Given the description of an element on the screen output the (x, y) to click on. 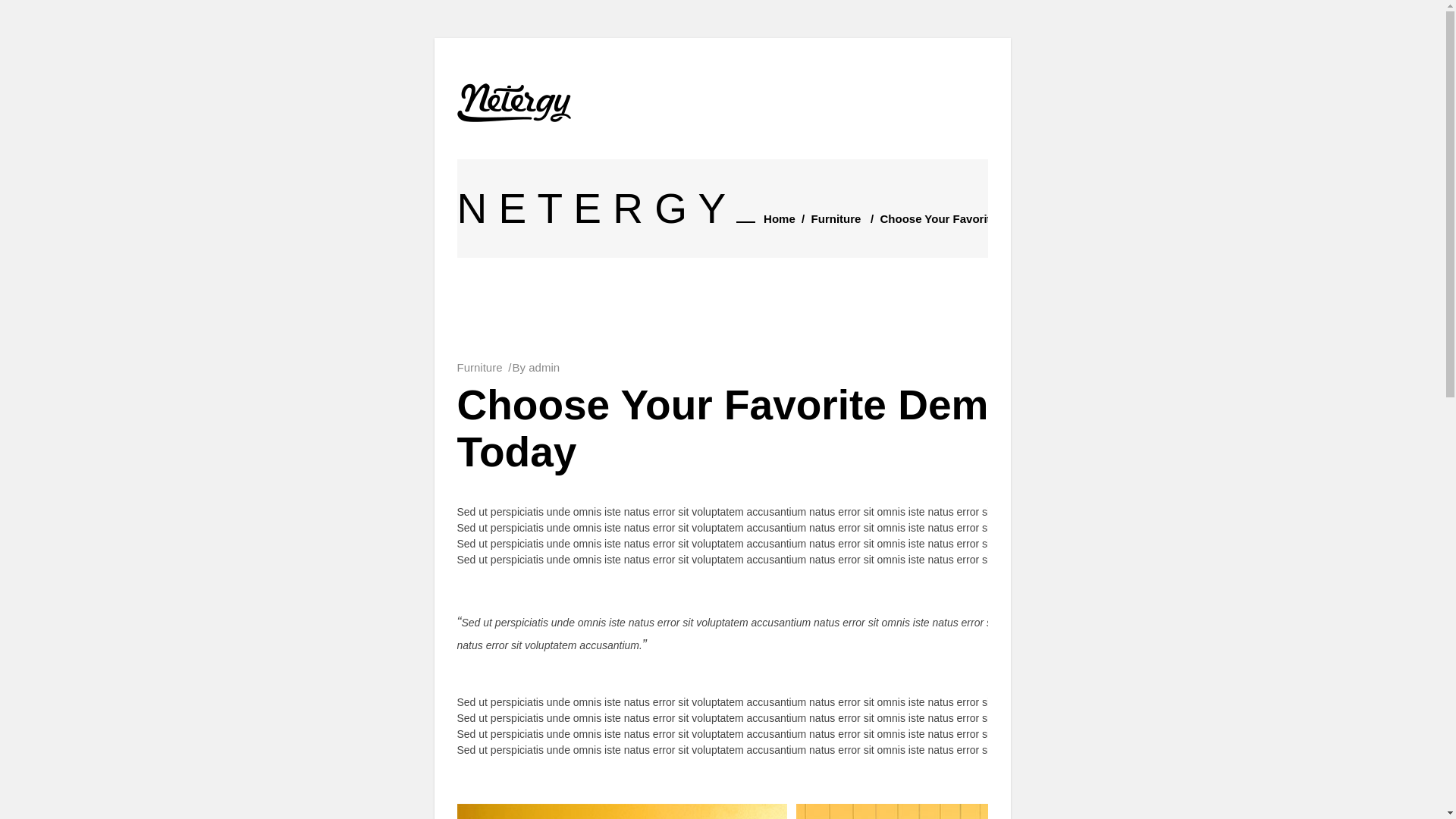
Furniture Element type: text (836, 218)
Home Element type: text (779, 218)
Furniture Element type: text (479, 366)
admin Element type: text (543, 366)
